Given the description of an element on the screen output the (x, y) to click on. 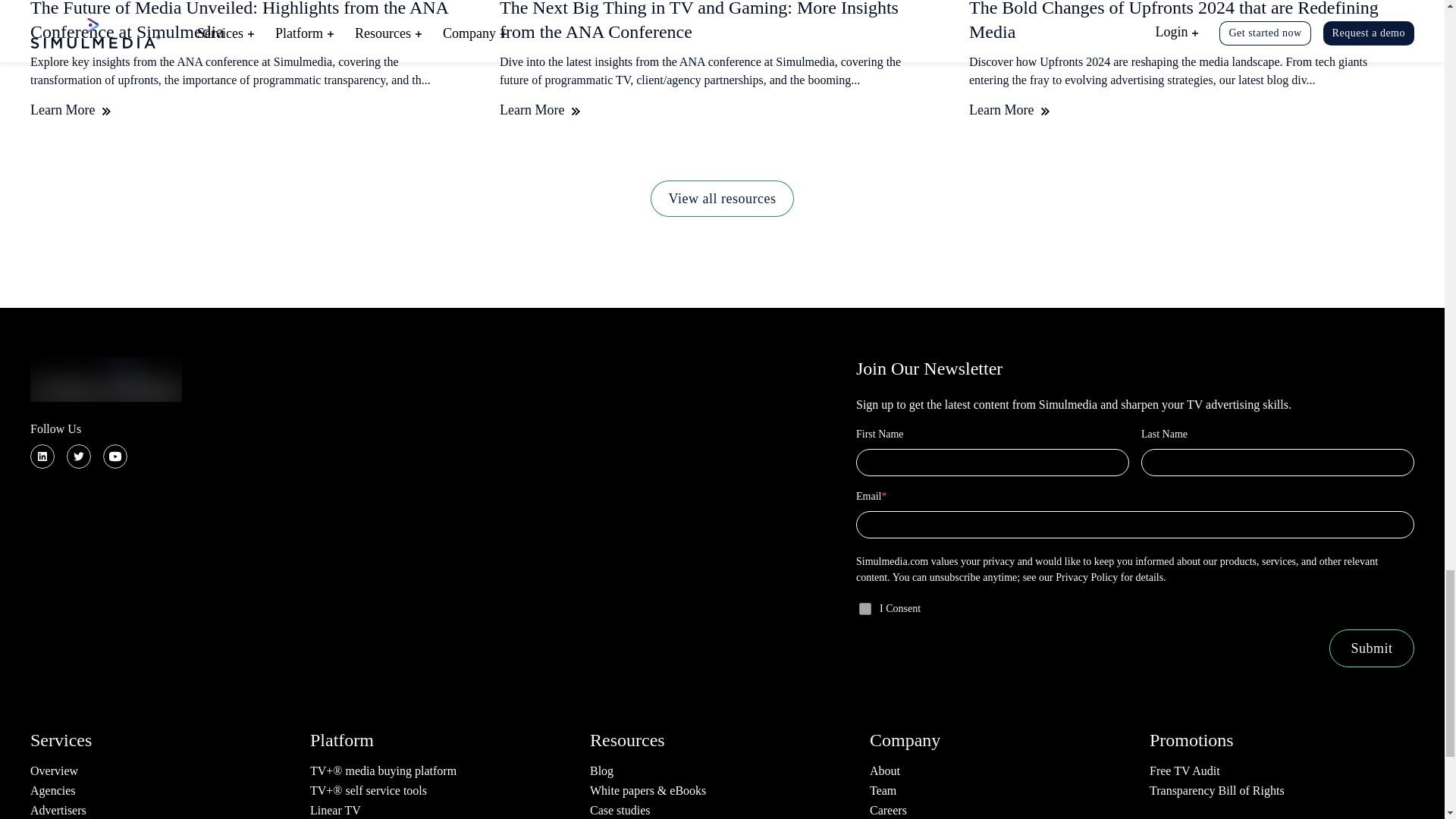
Submit (1371, 648)
true (864, 608)
